Given the description of an element on the screen output the (x, y) to click on. 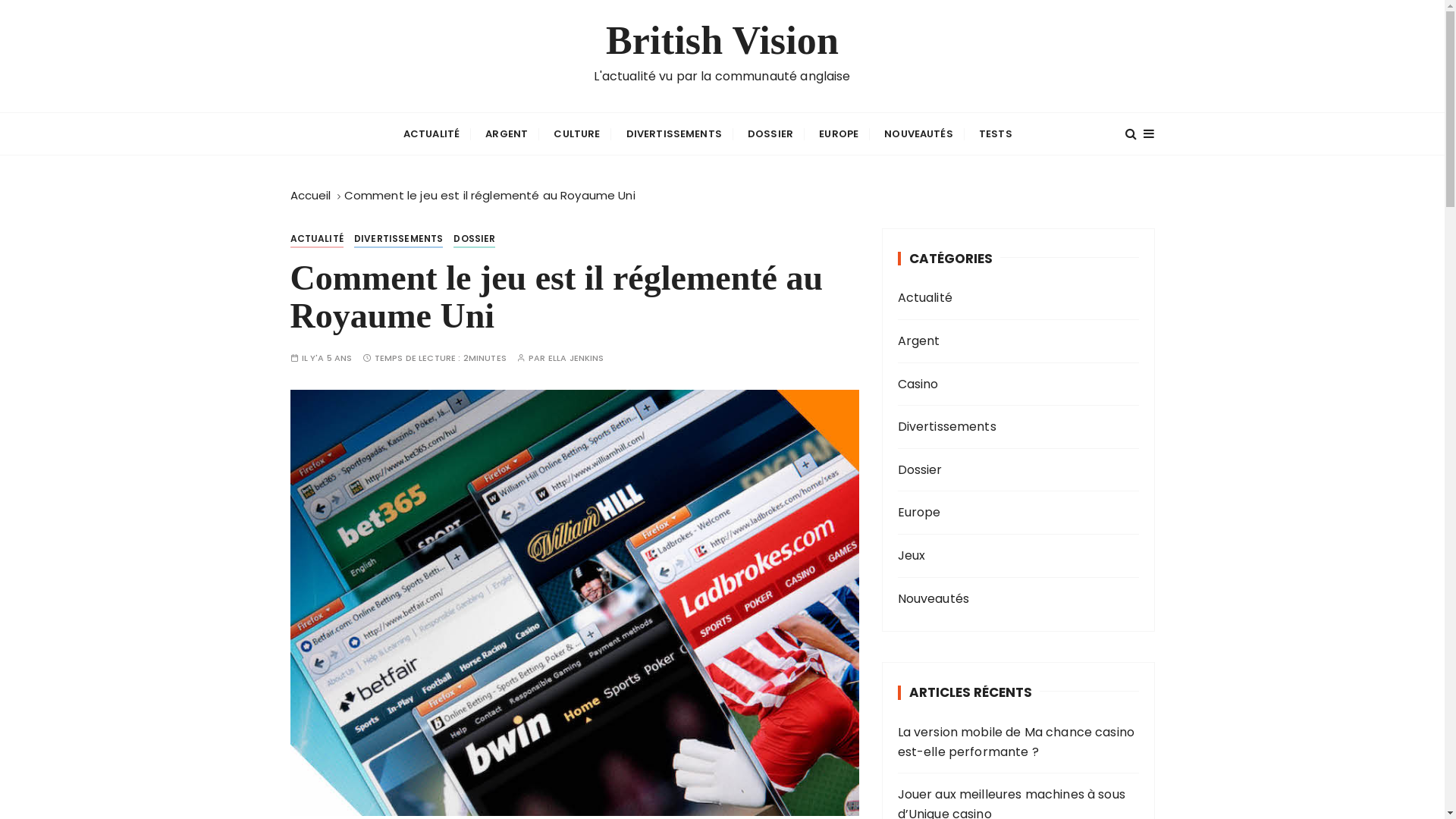
British Vision Element type: text (721, 40)
Argent Element type: text (993, 341)
Jeux Element type: text (993, 555)
DIVERTISSEMENTS Element type: text (398, 238)
CULTURE Element type: text (576, 133)
Divertissements Element type: text (993, 426)
La version mobile de Ma chance casino est-elle performante ? Element type: text (1018, 741)
TESTS Element type: text (995, 133)
EUROPE Element type: text (838, 133)
Dossier Element type: text (993, 470)
Casino Element type: text (993, 384)
ARGENT Element type: text (506, 133)
Europe Element type: text (993, 512)
ELLA JENKINS Element type: text (576, 358)
DOSSIER Element type: text (474, 238)
DOSSIER Element type: text (770, 133)
Accueil Element type: text (309, 195)
DIVERTISSEMENTS Element type: text (674, 133)
